Given the description of an element on the screen output the (x, y) to click on. 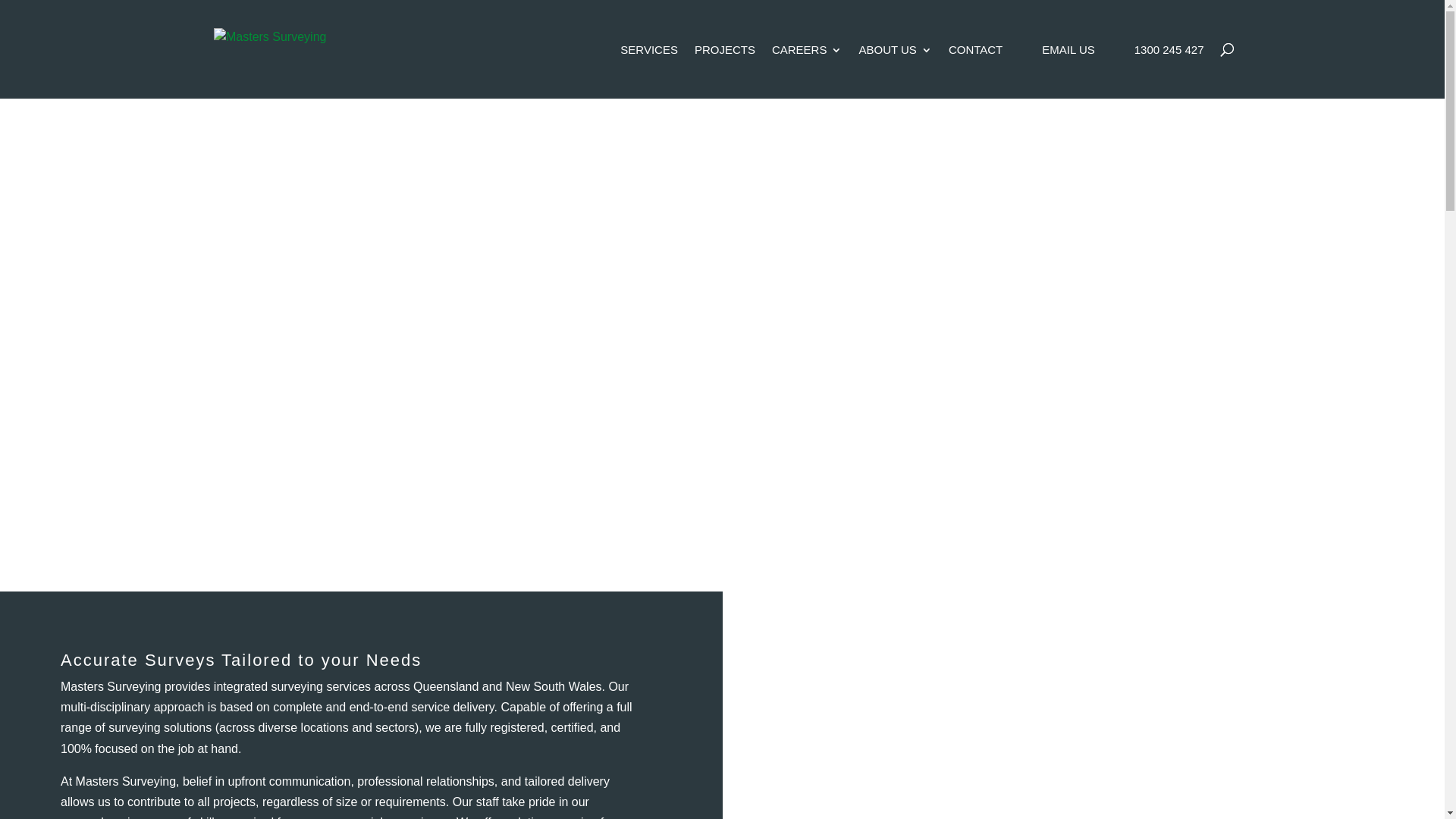
1300 245 427 Element type: text (1169, 70)
CAREERS Element type: text (806, 71)
EMAIL US Element type: text (1067, 70)
CONTACT Element type: text (975, 71)
PROJECTS Element type: text (724, 71)
ABOUT US Element type: text (894, 71)
SERVICES Element type: text (648, 71)
